Given the description of an element on the screen output the (x, y) to click on. 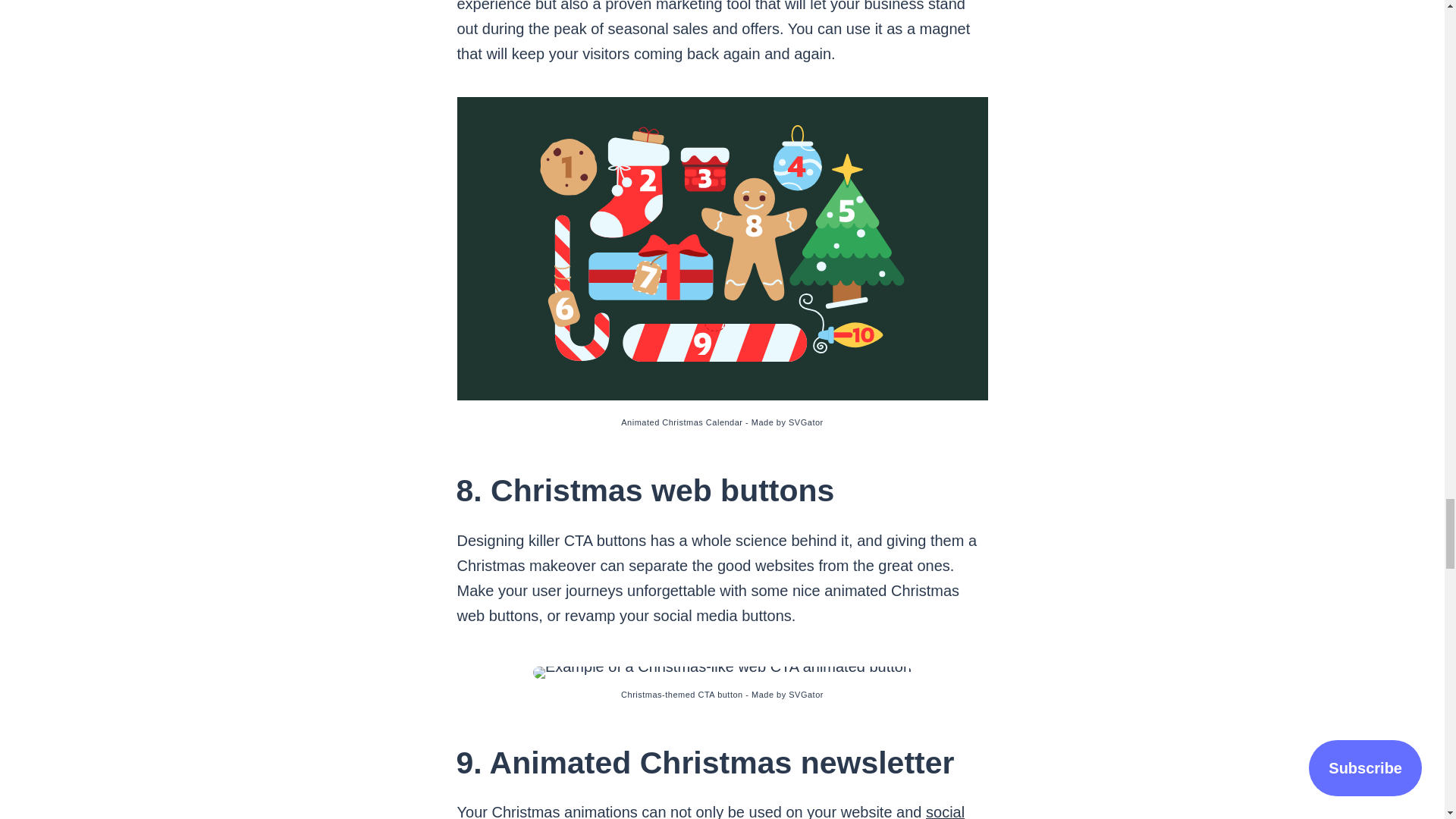
social media (710, 811)
